Given the description of an element on the screen output the (x, y) to click on. 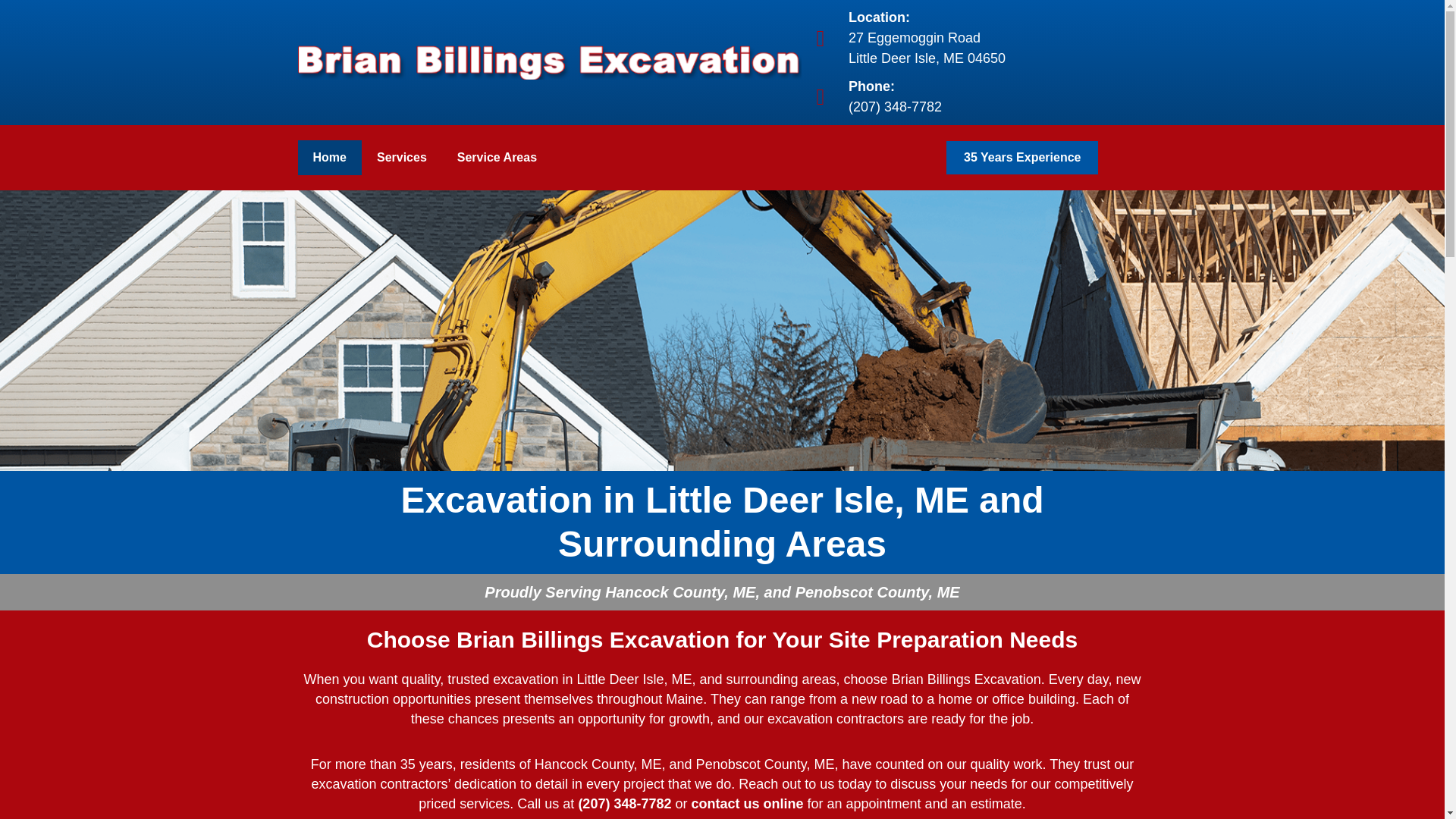
Services (980, 37)
contact us online (401, 157)
Home (746, 803)
Service Areas (329, 157)
